Given the description of an element on the screen output the (x, y) to click on. 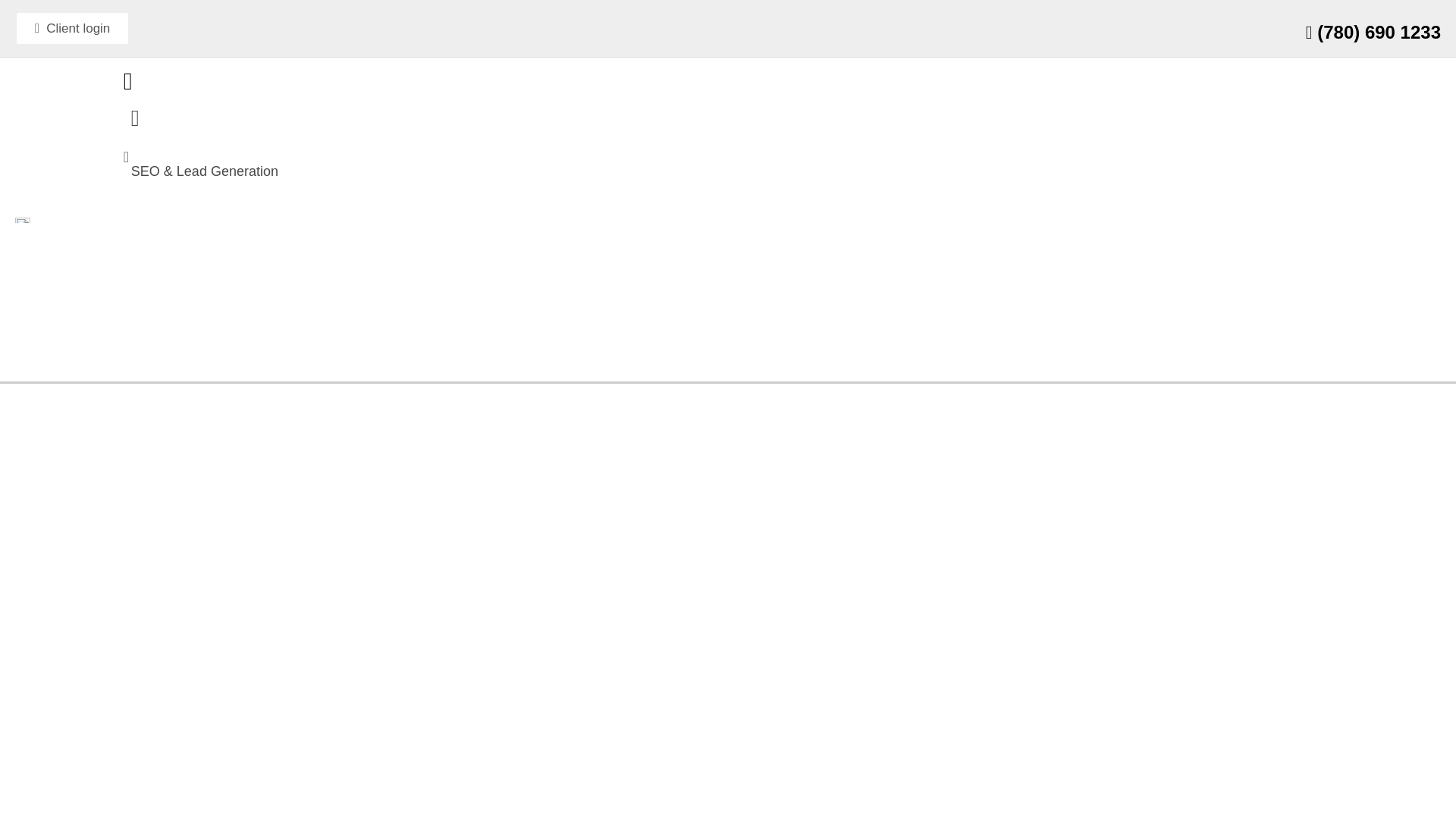
Client login (71, 28)
